Given the description of an element on the screen output the (x, y) to click on. 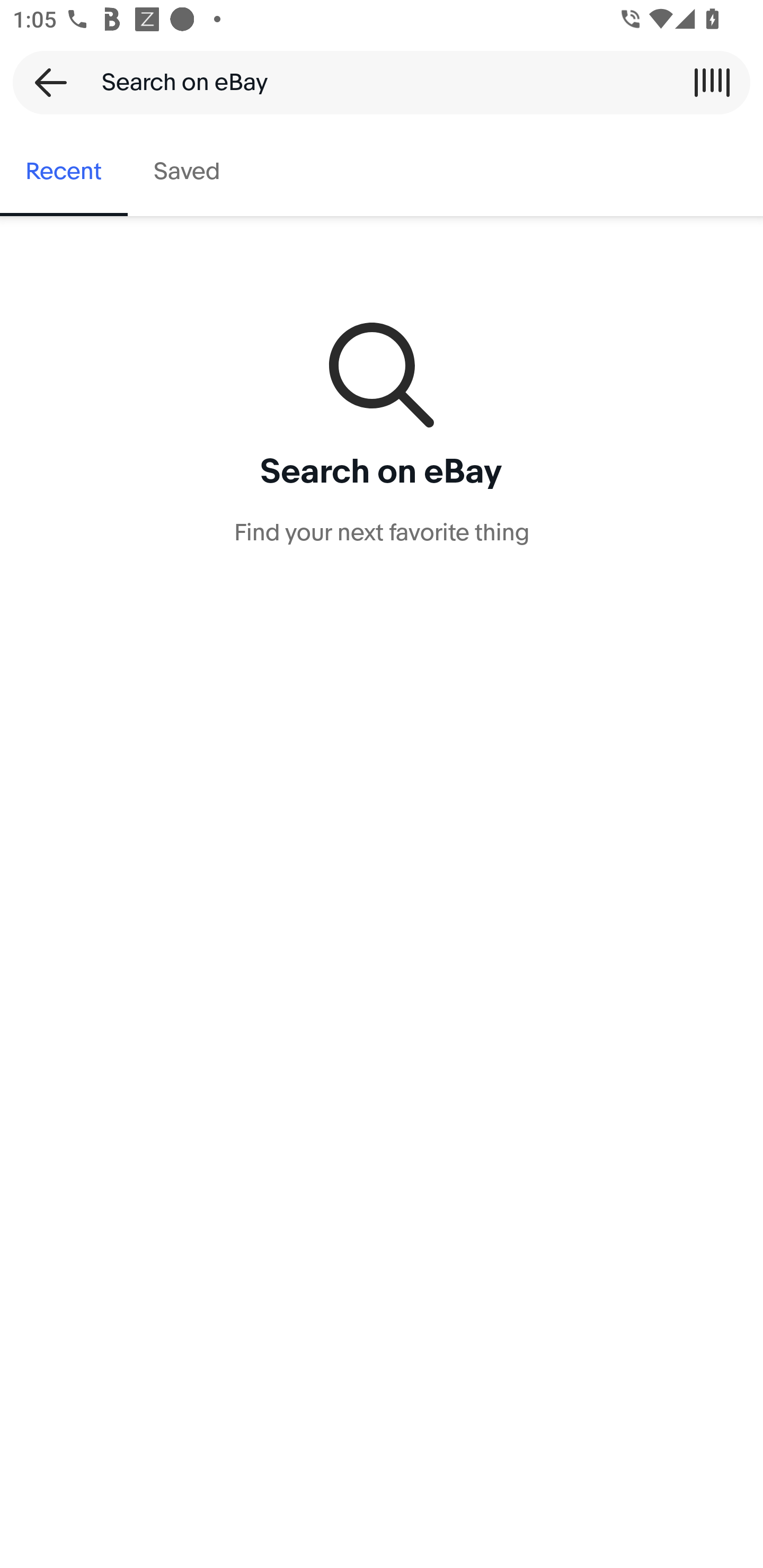
Back (44, 82)
Scan a barcode (711, 82)
Search on eBay (375, 82)
Saved, tab 2 of 2 Saved (186, 171)
